Given the description of an element on the screen output the (x, y) to click on. 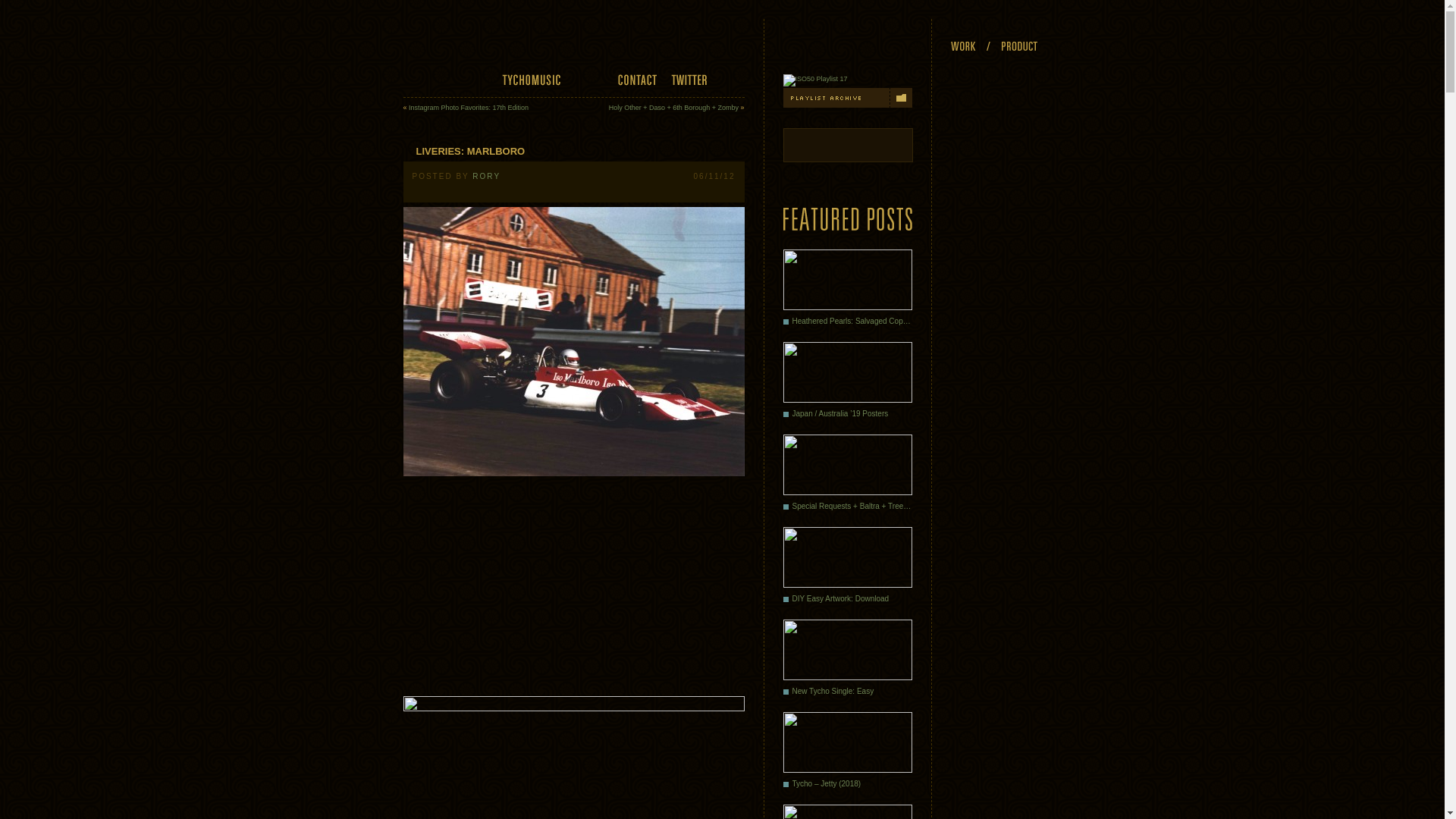
ISO50 (438, 44)
Portfolio (426, 79)
ISO50 (438, 44)
Instagram Photo Favorites: 17th Edition (468, 107)
About (589, 79)
RORY (485, 175)
LIVERIES: MARLBORO (464, 151)
Permalink to Liveries: Marlboro (464, 151)
Join (733, 79)
RSS (728, 44)
